Given the description of an element on the screen output the (x, y) to click on. 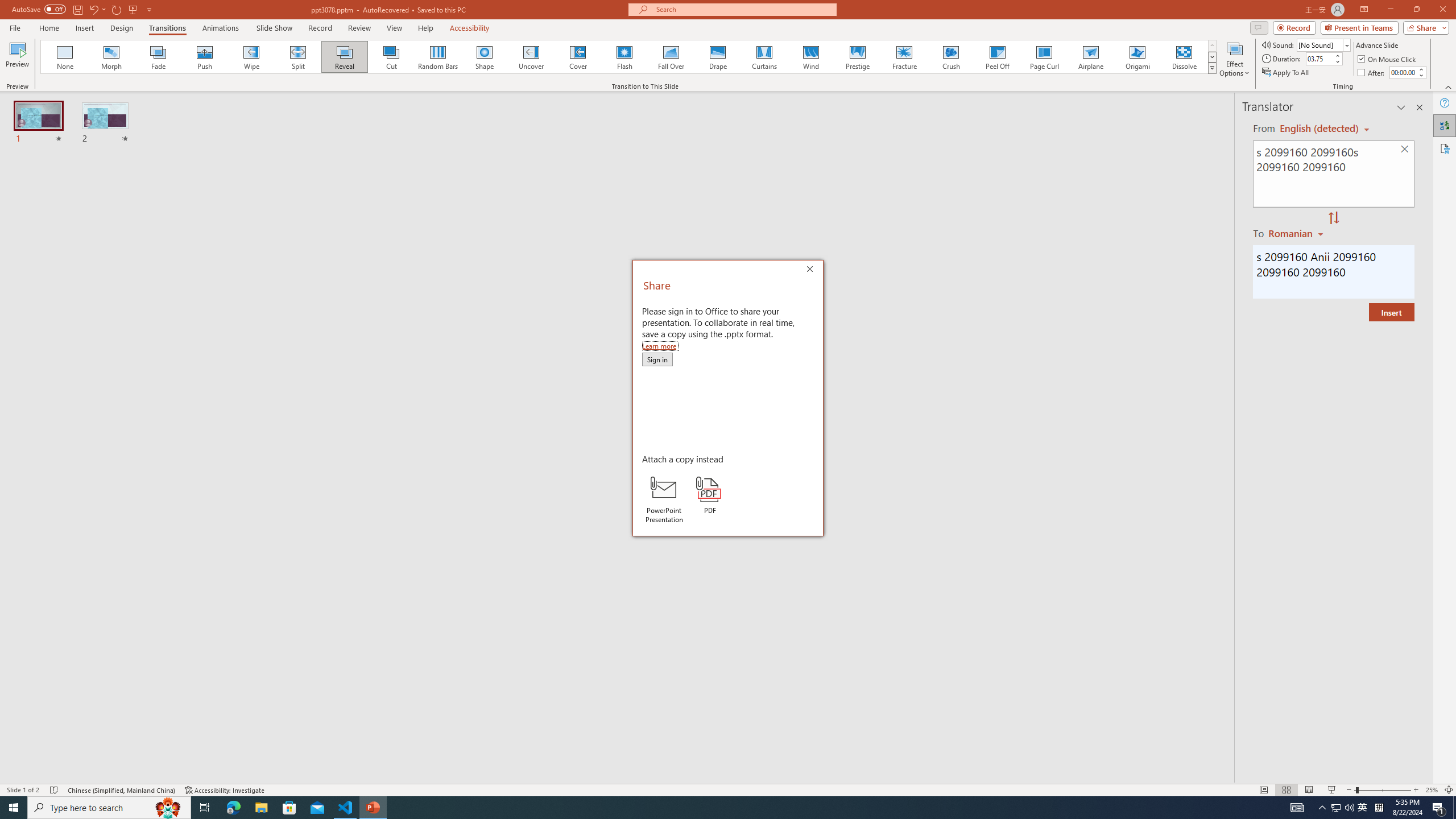
Drape (717, 56)
Airplane (1090, 56)
Prestige (857, 56)
